Given the description of an element on the screen output the (x, y) to click on. 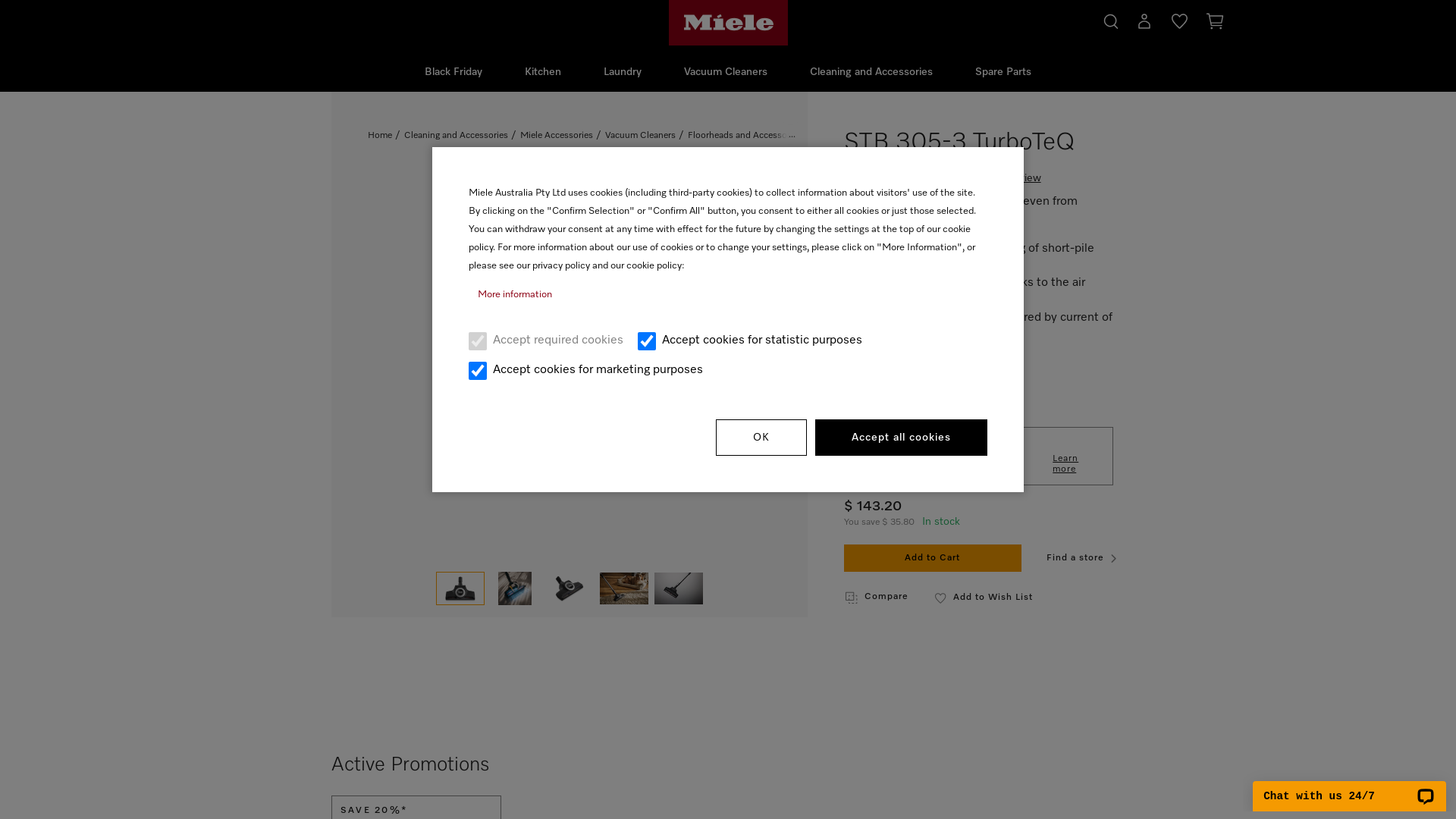
Start search. Element type: hover (1110, 19)
Write a Review Element type: text (1004, 182)
Black Friday Element type: text (453, 72)
Vacuum Cleaners Element type: text (640, 136)
Home Element type: text (379, 136)
Vacuum Cleaners Element type: text (725, 72)
See Full Description Element type: text (898, 382)
Cleaning and Accessories Element type: text (870, 72)
Shopping cart Element type: hover (1214, 24)
Wish lists Element type: hover (1179, 24)
Compare Element type: text (876, 597)
Find a store Element type: text (1084, 558)
Floorheads and Accessories Element type: text (744, 136)
Laundry Element type: text (622, 72)
Cleaning and Accessories Element type: text (456, 136)
Add to Wish List Element type: text (983, 597)
Login or create account Element type: hover (1144, 24)
Accept all cookies Element type: text (901, 438)
Miele Accessories Element type: text (556, 136)
Spare Parts Element type: text (1003, 72)
Kitchen Element type: text (542, 72)
Add to Cart Element type: text (932, 558)
SAVE 20%*
BLACK FRIDAY FLOORCARE DEALS*
Learn more Element type: text (978, 456)
More information Element type: text (727, 295)
OK Element type: text (760, 438)
